Given the description of an element on the screen output the (x, y) to click on. 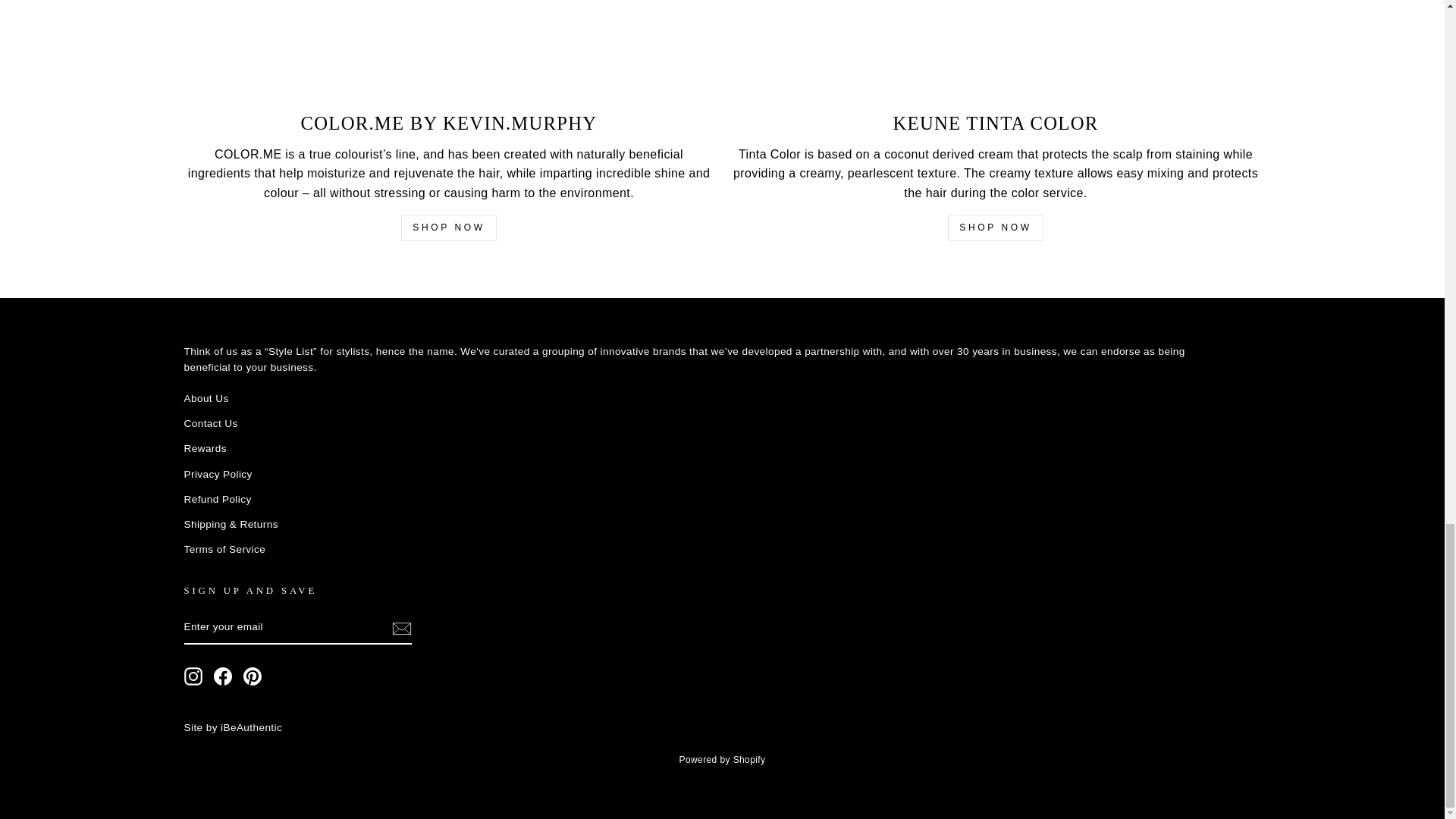
StyList By Premier Beauty on Facebook (222, 676)
icon-email (400, 628)
instagram (192, 676)
StyList By Premier Beauty on Instagram (192, 676)
StyList By Premier Beauty on Pinterest (251, 676)
